Given the description of an element on the screen output the (x, y) to click on. 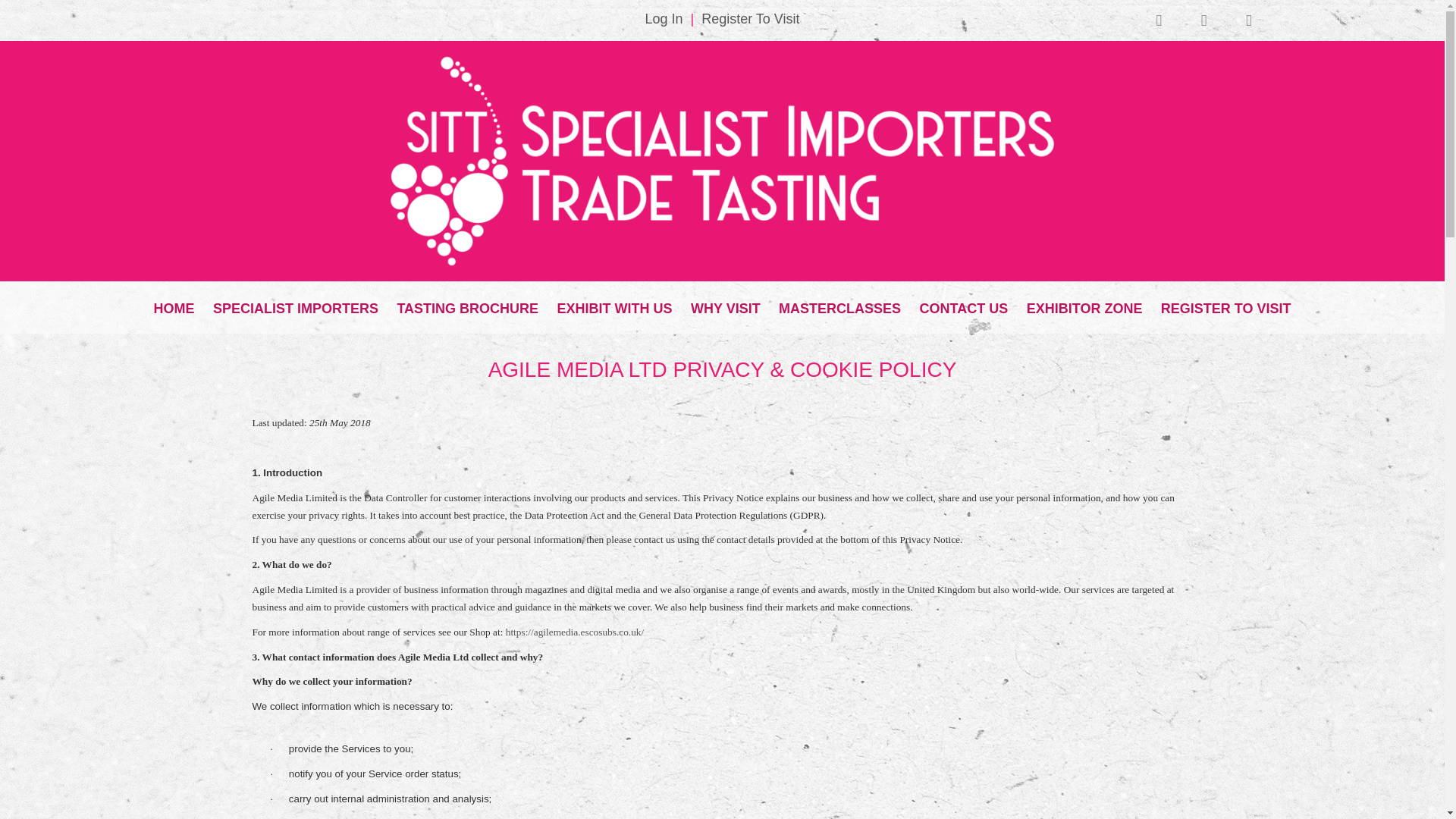
TASTING BROCHURE (467, 304)
Register To Visit (750, 18)
REGISTER TO VISIT (1225, 304)
SPECIALIST IMPORTERS (295, 304)
EXHIBIT WITH US (614, 304)
WHY VISIT (725, 304)
EXHIBITOR ZONE (1084, 304)
HOME (173, 304)
MASTERCLASSES (839, 304)
CONTACT US (964, 304)
